Given the description of an element on the screen output the (x, y) to click on. 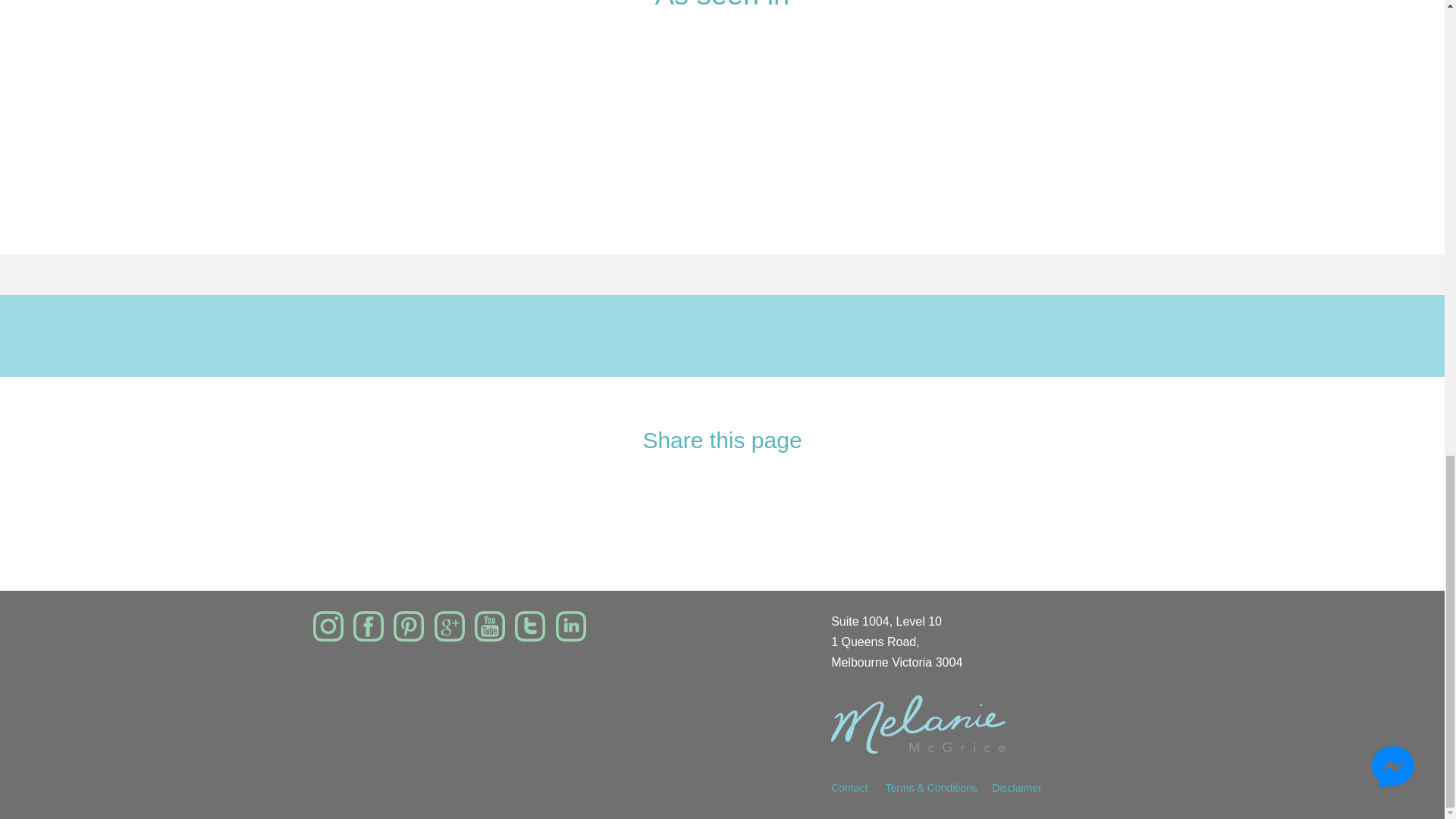
Contact      (858, 787)
